Given the description of an element on the screen output the (x, y) to click on. 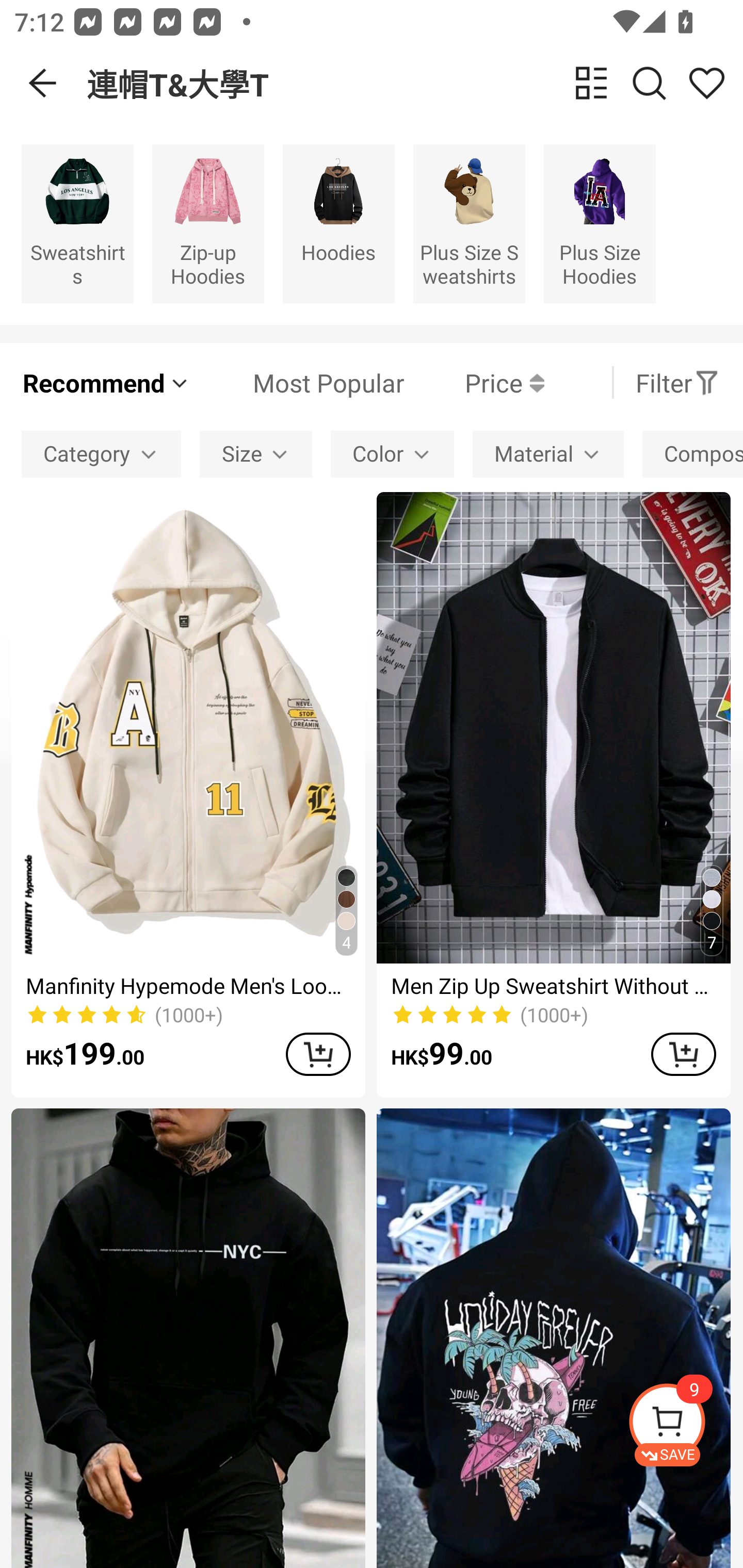
連帽T&大學T change view Search Share (414, 82)
change view (591, 82)
Search (648, 82)
Share (706, 82)
Sweatshirts (77, 223)
Zip-up Hoodies (208, 223)
Hoodies (338, 223)
Plus Size Sweatshirts (469, 223)
Plus Size Hoodies (599, 223)
Recommend (106, 382)
Most Popular (297, 382)
Price (474, 382)
Filter (677, 382)
Category (101, 454)
Size (255, 454)
Color (391, 454)
Material (548, 454)
Composition (692, 454)
ADD TO CART (318, 1054)
ADD TO CART (683, 1054)
Men Skull & Letter Graphic Hoodie (553, 1338)
SAVE (685, 1424)
